Given the description of an element on the screen output the (x, y) to click on. 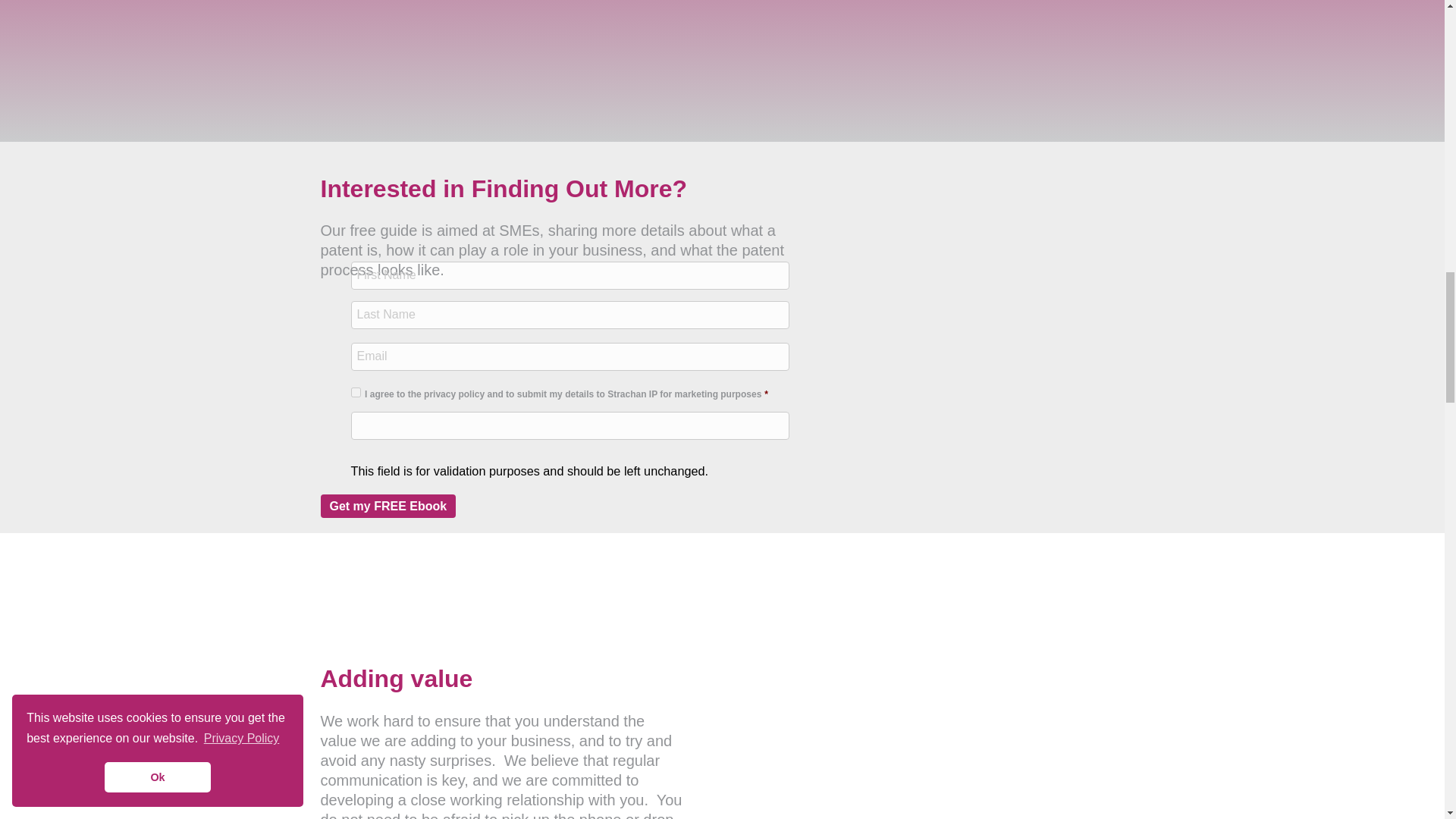
Get my FREE Ebook (387, 505)
Get my FREE Ebook (387, 505)
1 (354, 392)
